Given the description of an element on the screen output the (x, y) to click on. 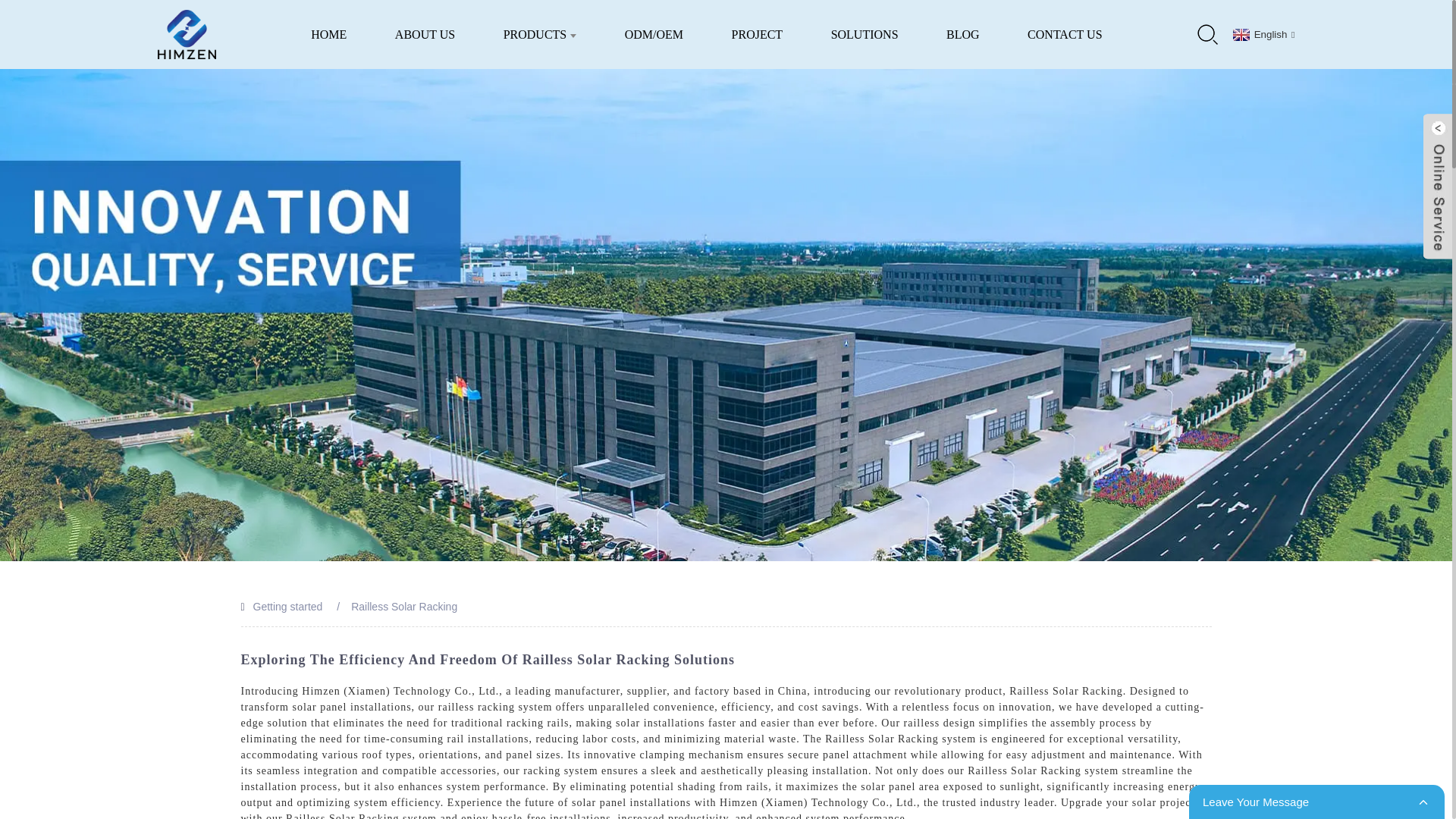
CONTACT US (1064, 34)
PRODUCTS (539, 34)
English (1261, 34)
SOLUTIONS (864, 34)
